Given the description of an element on the screen output the (x, y) to click on. 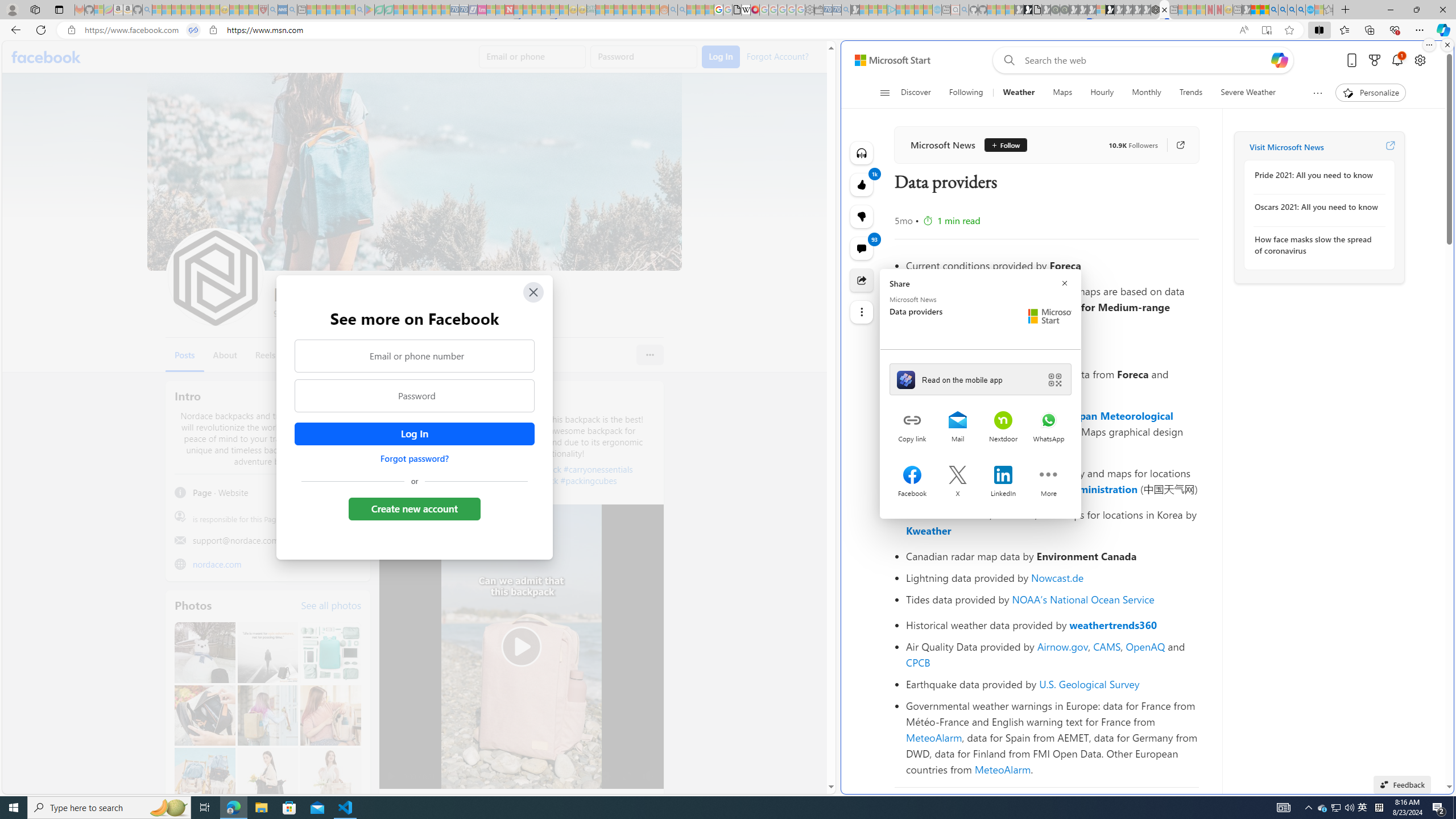
Email or phone number (414, 355)
Tabs in split screen (193, 29)
MSN - Sleeping (1246, 9)
Monthly (1146, 92)
More share options (1048, 476)
Go to publisher's site (1174, 144)
Share on X (957, 476)
